Given the description of an element on the screen output the (x, y) to click on. 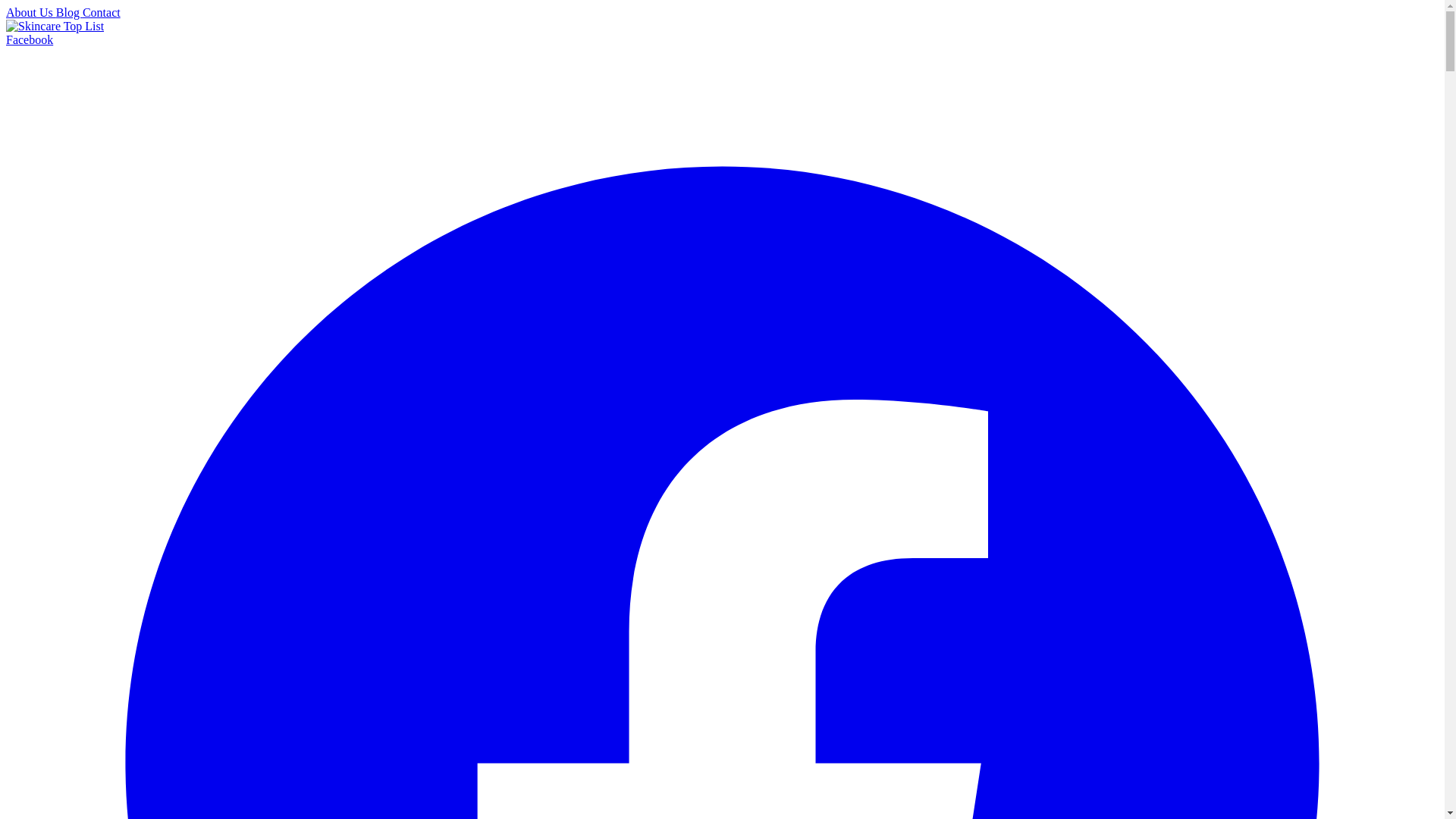
Blog (69, 11)
About Us (30, 11)
Contact (101, 11)
